Given the description of an element on the screen output the (x, y) to click on. 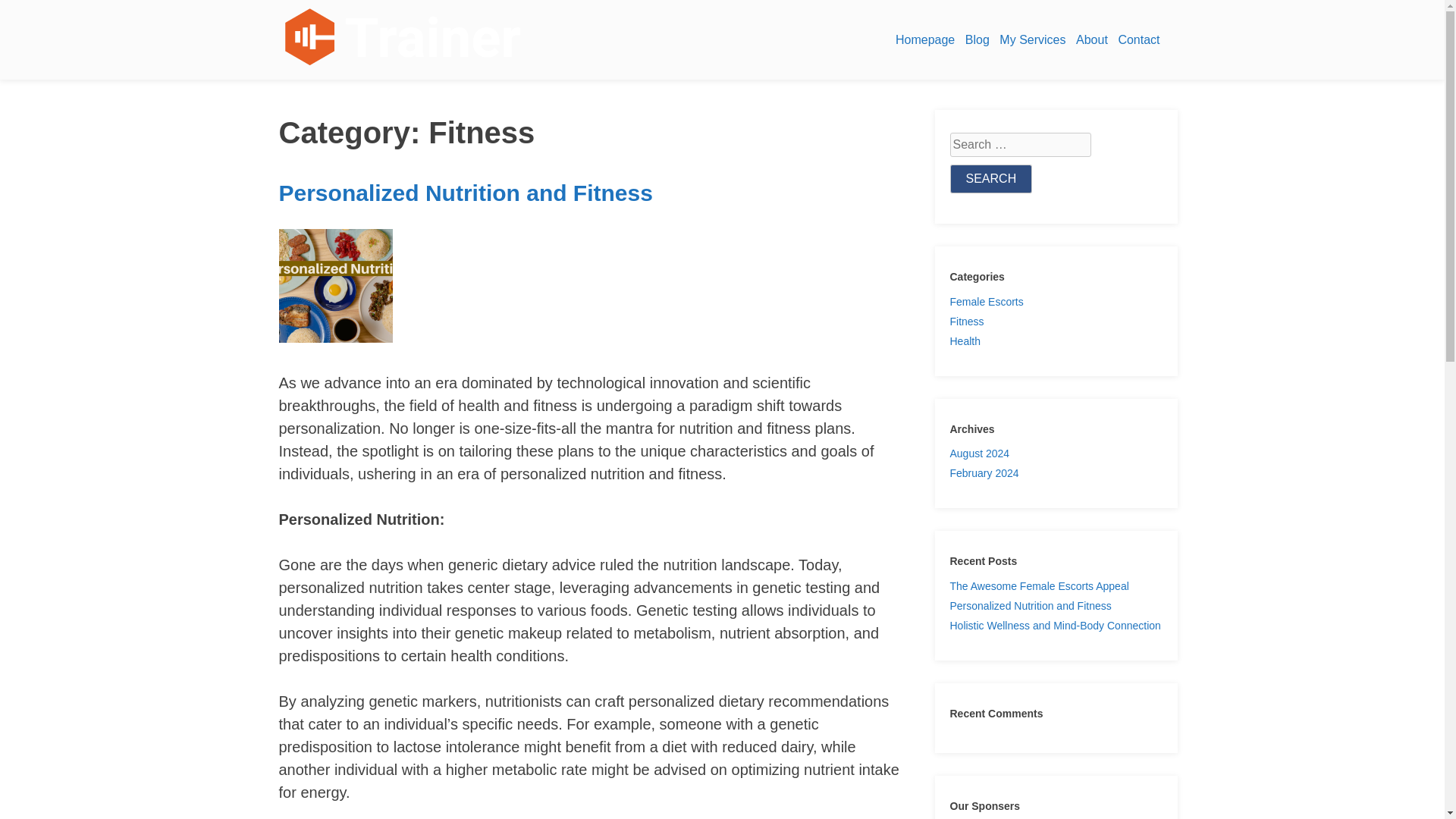
Search (990, 178)
Blog (977, 39)
Female Escorts (986, 301)
Holistic Wellness and Mind-Body Connection (1054, 625)
February 2024 (983, 472)
August 2024 (979, 453)
Health (964, 340)
About (1091, 39)
Search (990, 178)
Homepage (925, 39)
